Given the description of an element on the screen output the (x, y) to click on. 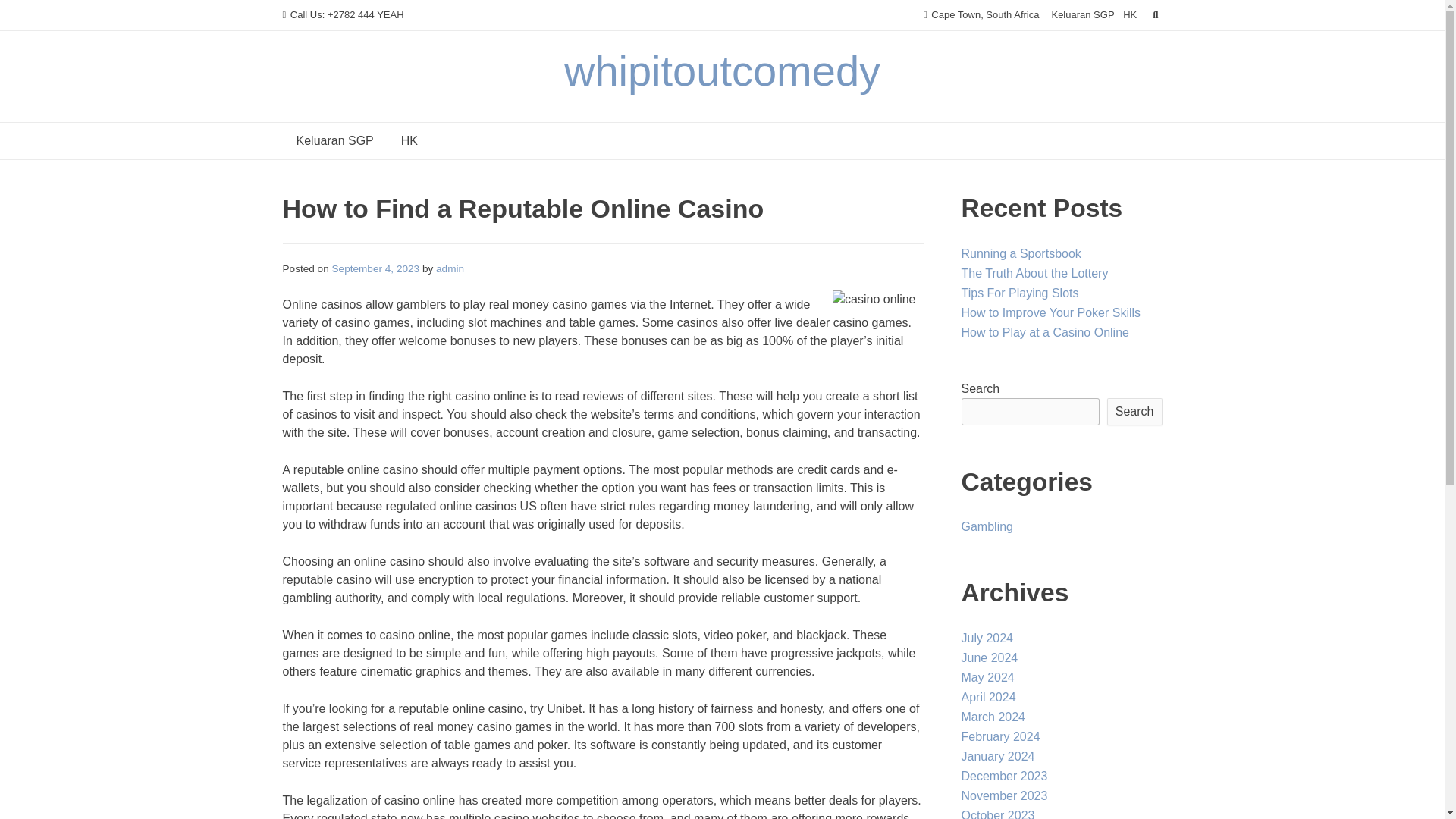
April 2024 (988, 697)
admin (449, 268)
Search (1133, 411)
The Truth About the Lottery (1034, 273)
Running a Sportsbook (1020, 253)
September 4, 2023 (375, 268)
Keluaran SGP (1082, 14)
Gambling (986, 526)
Keluaran SGP (334, 140)
July 2024 (986, 637)
November 2023 (1004, 795)
How to Improve Your Poker Skills (1050, 312)
March 2024 (993, 716)
June 2024 (988, 657)
HK (408, 140)
